Given the description of an element on the screen output the (x, y) to click on. 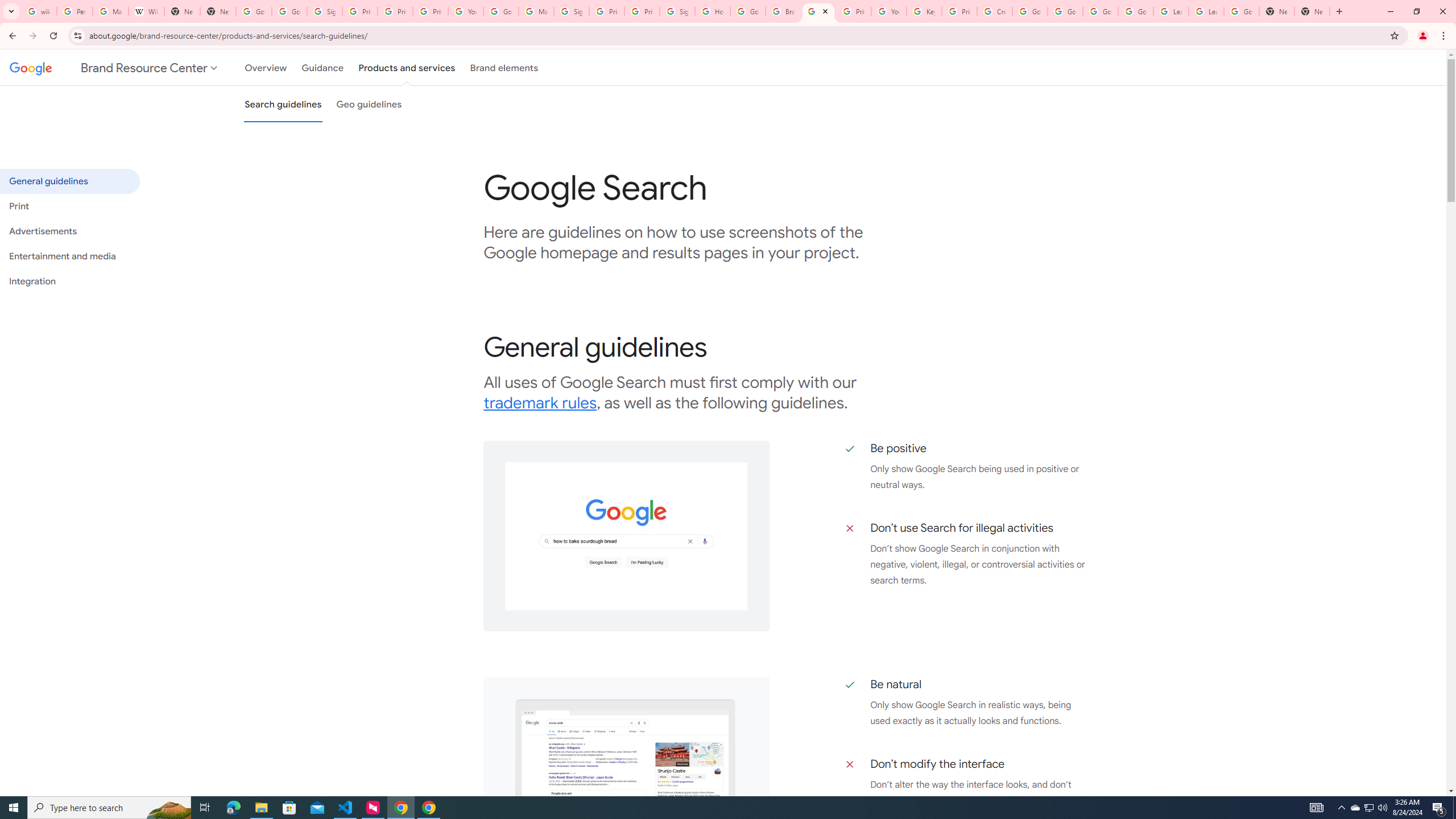
Create your Google Account (994, 11)
trademark rules (539, 402)
Google Account Help (1029, 11)
Entertainment and media (69, 256)
Sign in - Google Accounts (571, 11)
Guidance (322, 67)
Google Drive: Sign-in (288, 11)
